Given the description of an element on the screen output the (x, y) to click on. 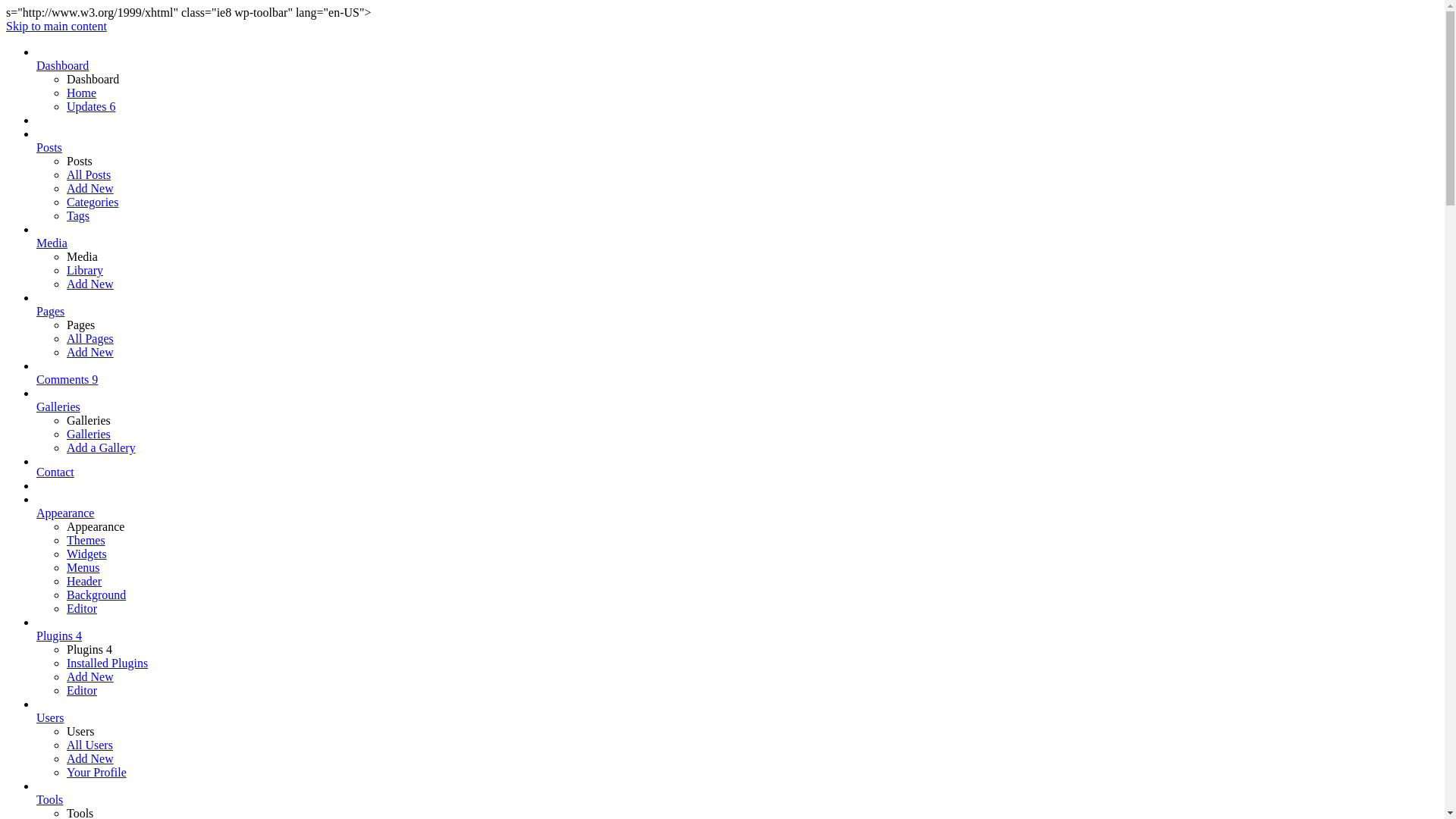
Library Element type: text (84, 269)
Posts Element type: text (737, 140)
Galleries Element type: text (88, 433)
Your Profile Element type: text (96, 771)
Pages Element type: text (737, 304)
Editor Element type: text (81, 608)
Installed Plugins Element type: text (106, 662)
Add New Element type: text (89, 676)
Plugins 4 Element type: text (737, 629)
Categories Element type: text (92, 201)
Users Element type: text (737, 710)
Menus Element type: text (83, 567)
Galleries Element type: text (737, 400)
Add New Element type: text (89, 283)
Media Element type: text (737, 236)
Add New Element type: text (89, 351)
Updates 6 Element type: text (90, 106)
Appearance Element type: text (737, 506)
Contact Element type: text (737, 472)
Comments 9 Element type: text (737, 372)
Add a Gallery Element type: text (100, 447)
Tools Element type: text (737, 792)
Dashboard Element type: text (737, 58)
Background Element type: text (95, 594)
Add New Element type: text (89, 188)
Skip to main content Element type: text (56, 25)
All Posts Element type: text (88, 174)
Themes Element type: text (85, 539)
Editor Element type: text (81, 690)
Tags Element type: text (77, 215)
Header Element type: text (83, 580)
All Users Element type: text (89, 744)
Home Element type: text (81, 92)
Widgets Element type: text (86, 553)
All Pages Element type: text (89, 338)
Add New Element type: text (89, 758)
